Given the description of an element on the screen output the (x, y) to click on. 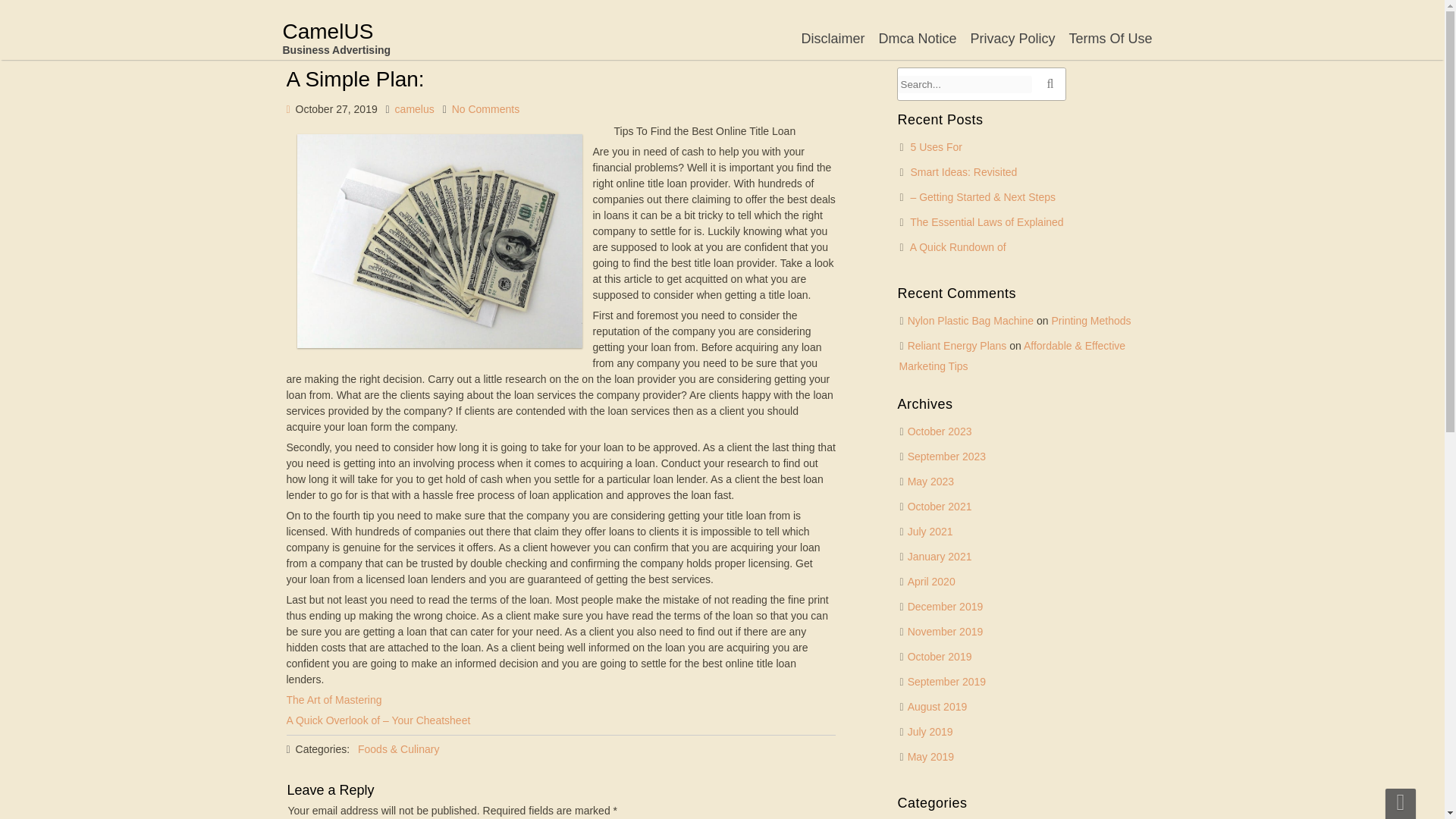
May 2023 (930, 481)
Terms Of Use (1110, 38)
The Essential Laws of Explained (986, 222)
December 2019 (945, 606)
No Comments (485, 109)
July 2021 (930, 531)
Reliant Energy Plans (957, 345)
September 2019 (947, 681)
Dmca Notice (917, 38)
CamelUS (336, 37)
October 2019 (939, 656)
The Art of Mastering (333, 699)
Printing Methods (1091, 320)
Privacy Policy (1012, 38)
May 2019 (930, 756)
